Given the description of an element on the screen output the (x, y) to click on. 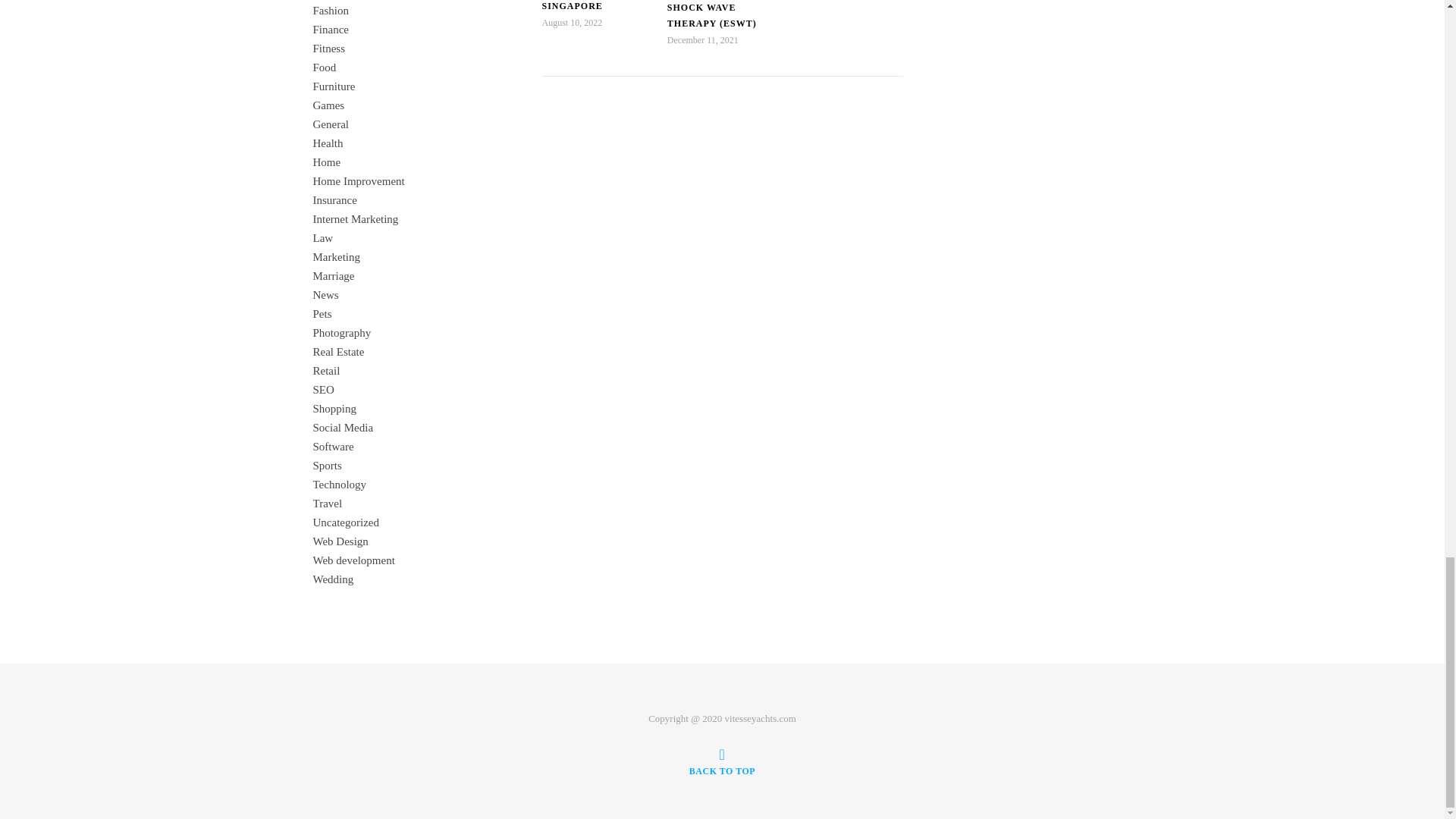
BACK TO TOP (722, 761)
